Given the description of an element on the screen output the (x, y) to click on. 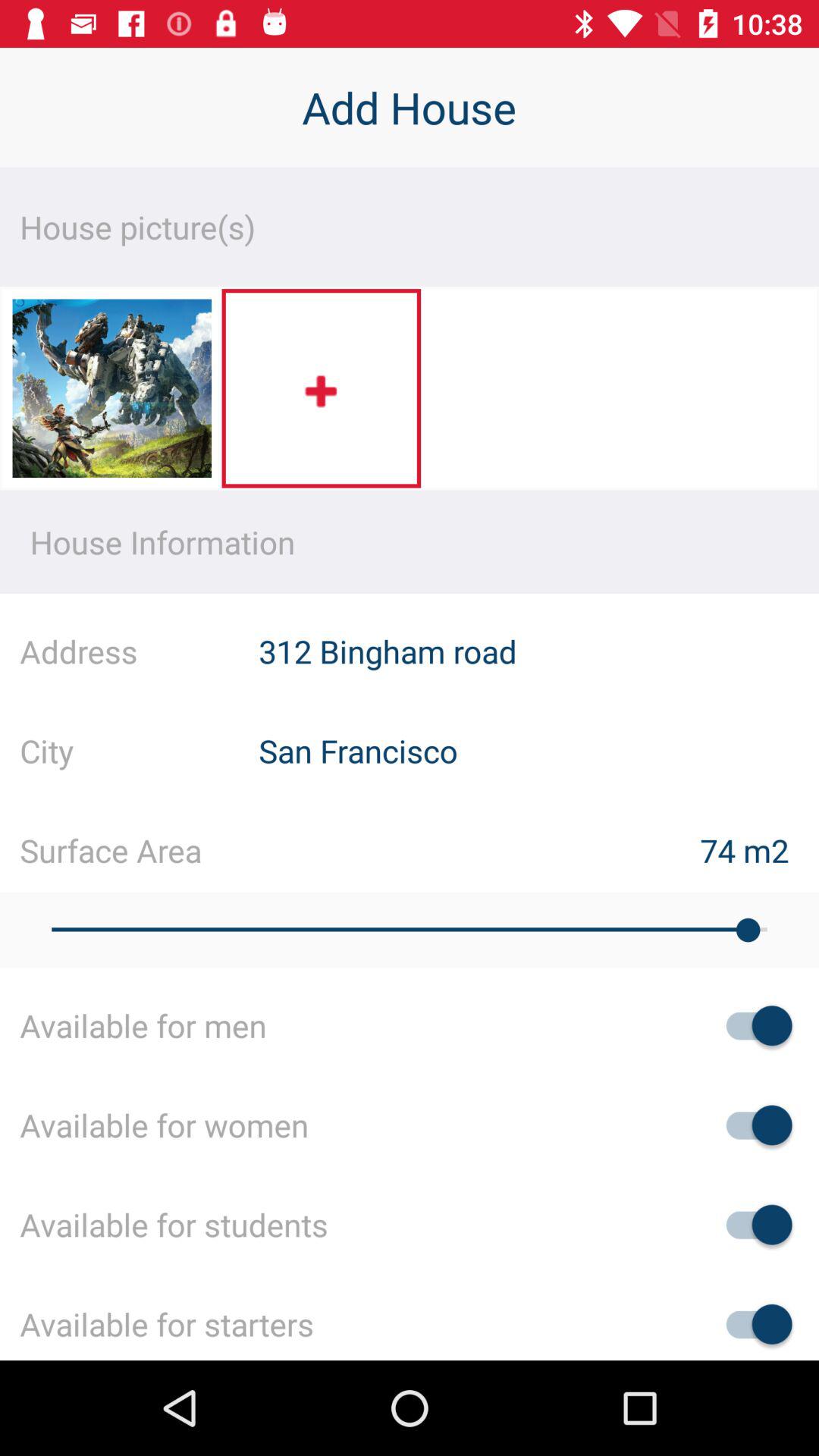
launch the icon below the house picture(s) item (320, 387)
